Given the description of an element on the screen output the (x, y) to click on. 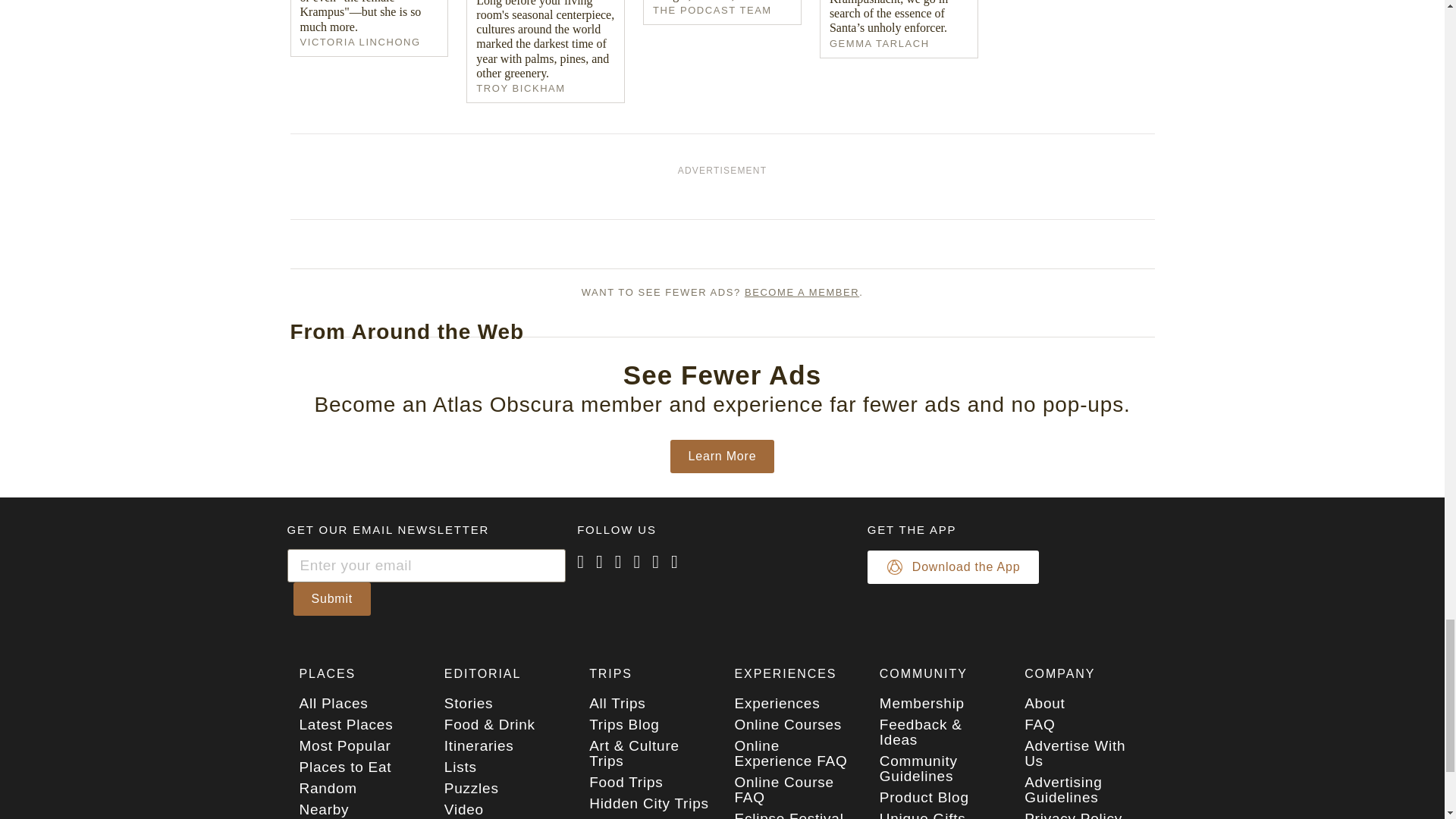
Submit (331, 598)
